Given the description of an element on the screen output the (x, y) to click on. 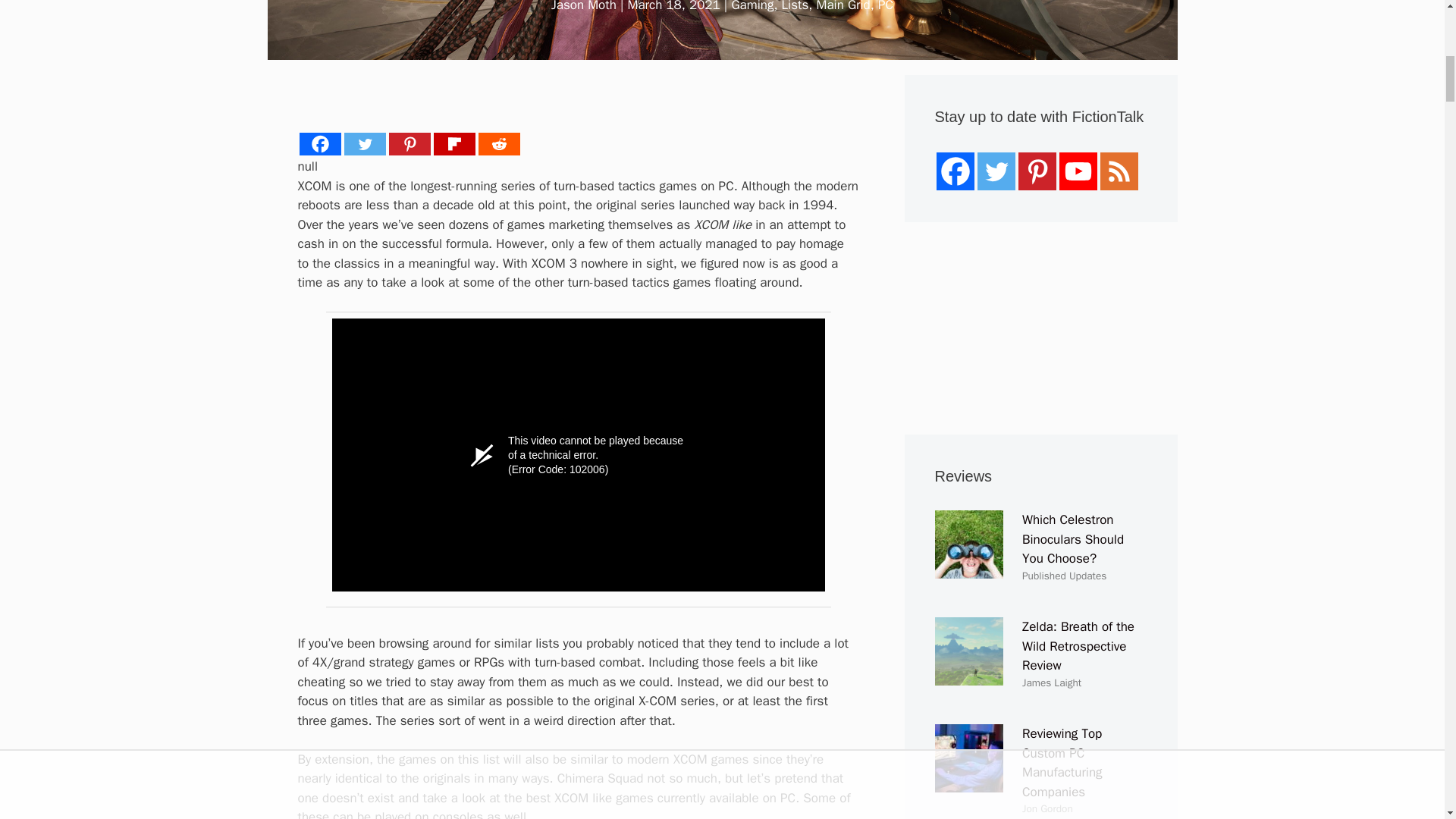
Flipboard (454, 143)
View all posts by Jason Moth (583, 6)
Facebook (319, 143)
Pinterest (408, 143)
Twitter (364, 143)
Reddit (498, 143)
